Given the description of an element on the screen output the (x, y) to click on. 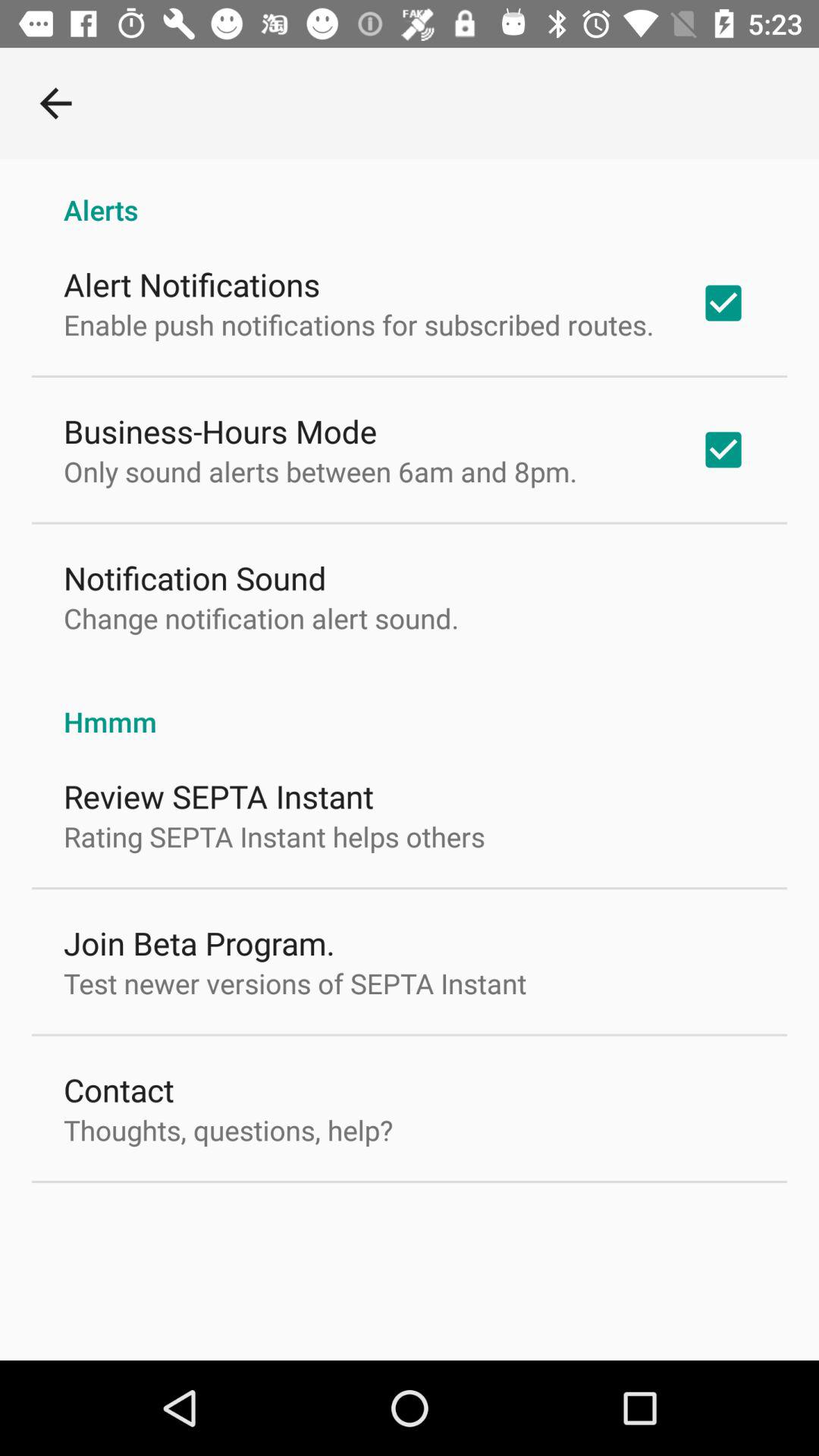
turn off the icon above the notification sound item (320, 471)
